Given the description of an element on the screen output the (x, y) to click on. 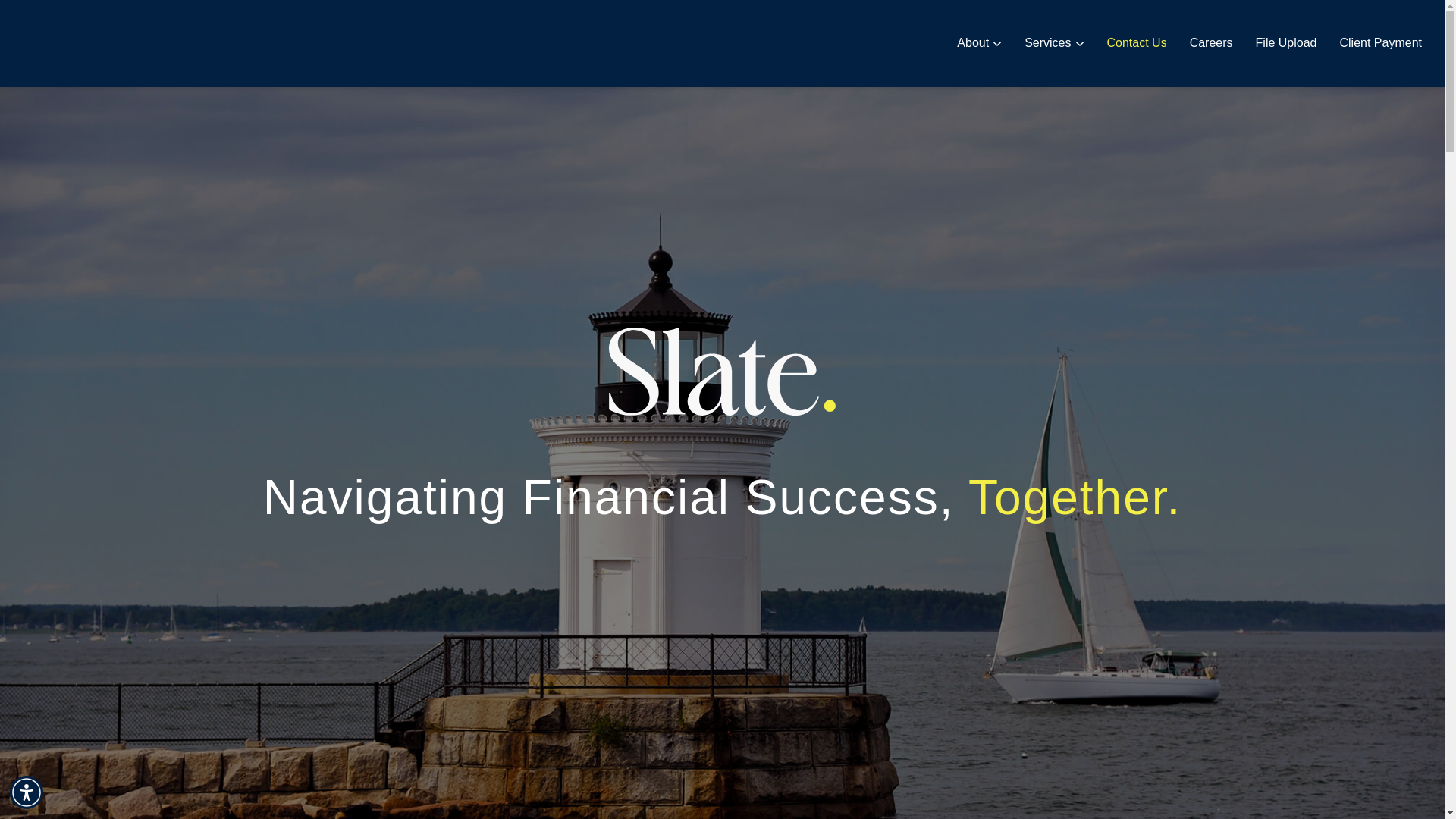
Contact Us (1136, 43)
Accessibility Menu (26, 792)
Services (1053, 43)
Client Payment (1380, 43)
Careers (1211, 43)
File Upload (1285, 43)
About (979, 43)
